Given the description of an element on the screen output the (x, y) to click on. 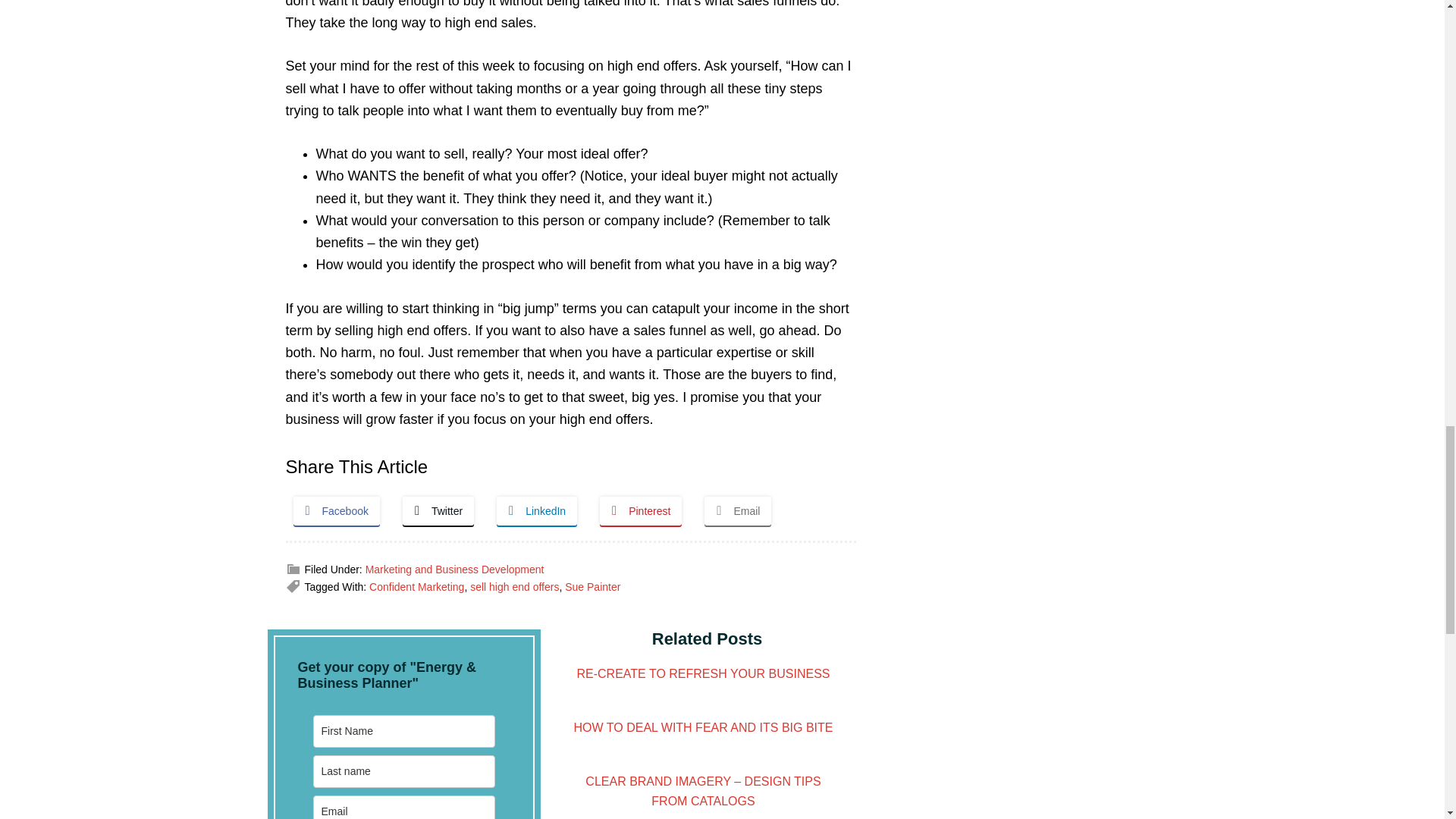
Permanent Link toHow to Deal With Fear and Its Big Bite (702, 727)
Confident Marketing (416, 586)
Twitter (438, 510)
Email (737, 510)
Marketing and Business Development (454, 569)
Facebook (335, 510)
Permanent Link toRe-create to Refresh Your Business (702, 673)
Sue Painter (592, 586)
Pinterest (640, 510)
LinkedIn (536, 510)
sell high end offers (514, 586)
